Given the description of an element on the screen output the (x, y) to click on. 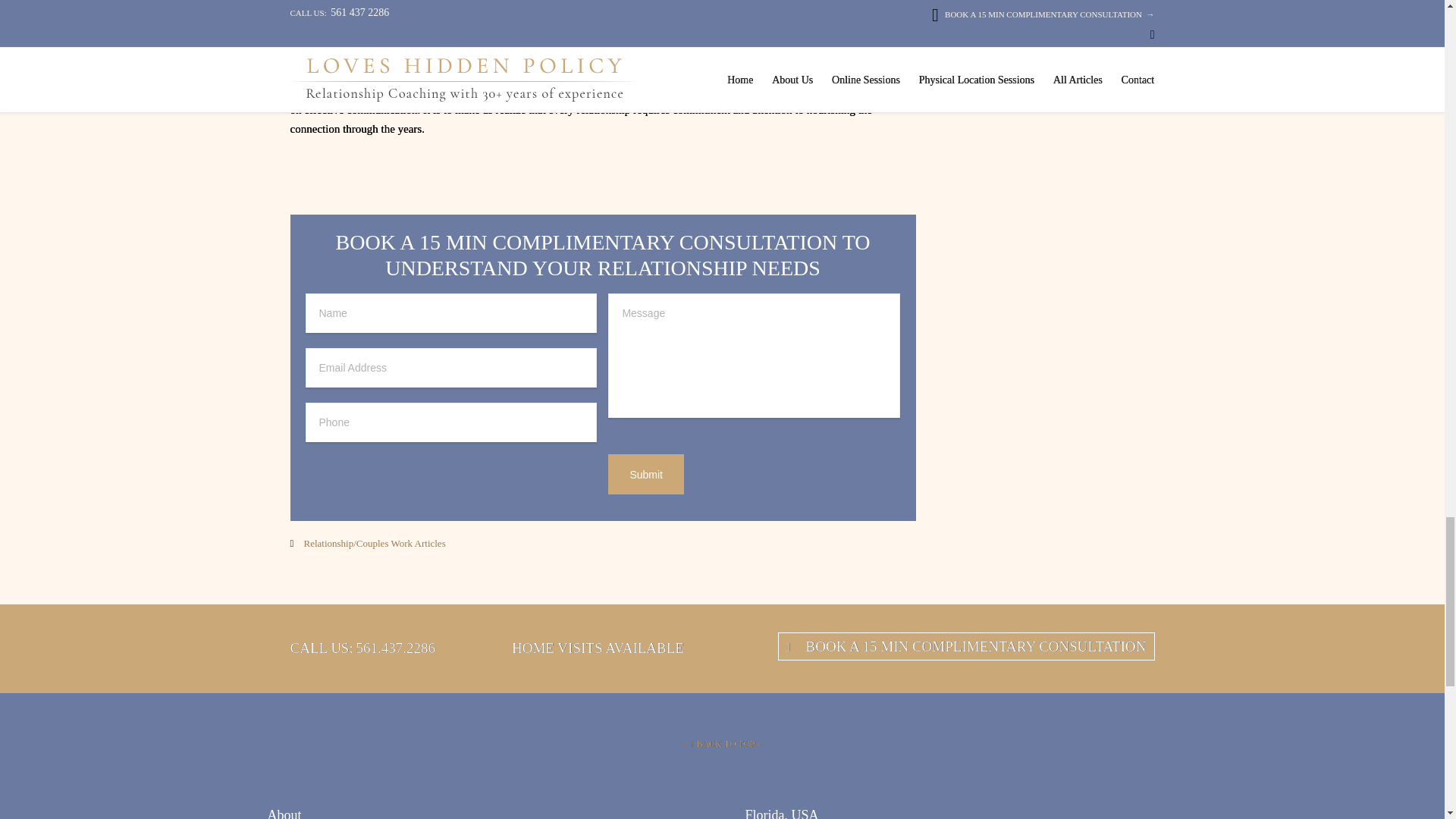
Submit (646, 473)
